Given the description of an element on the screen output the (x, y) to click on. 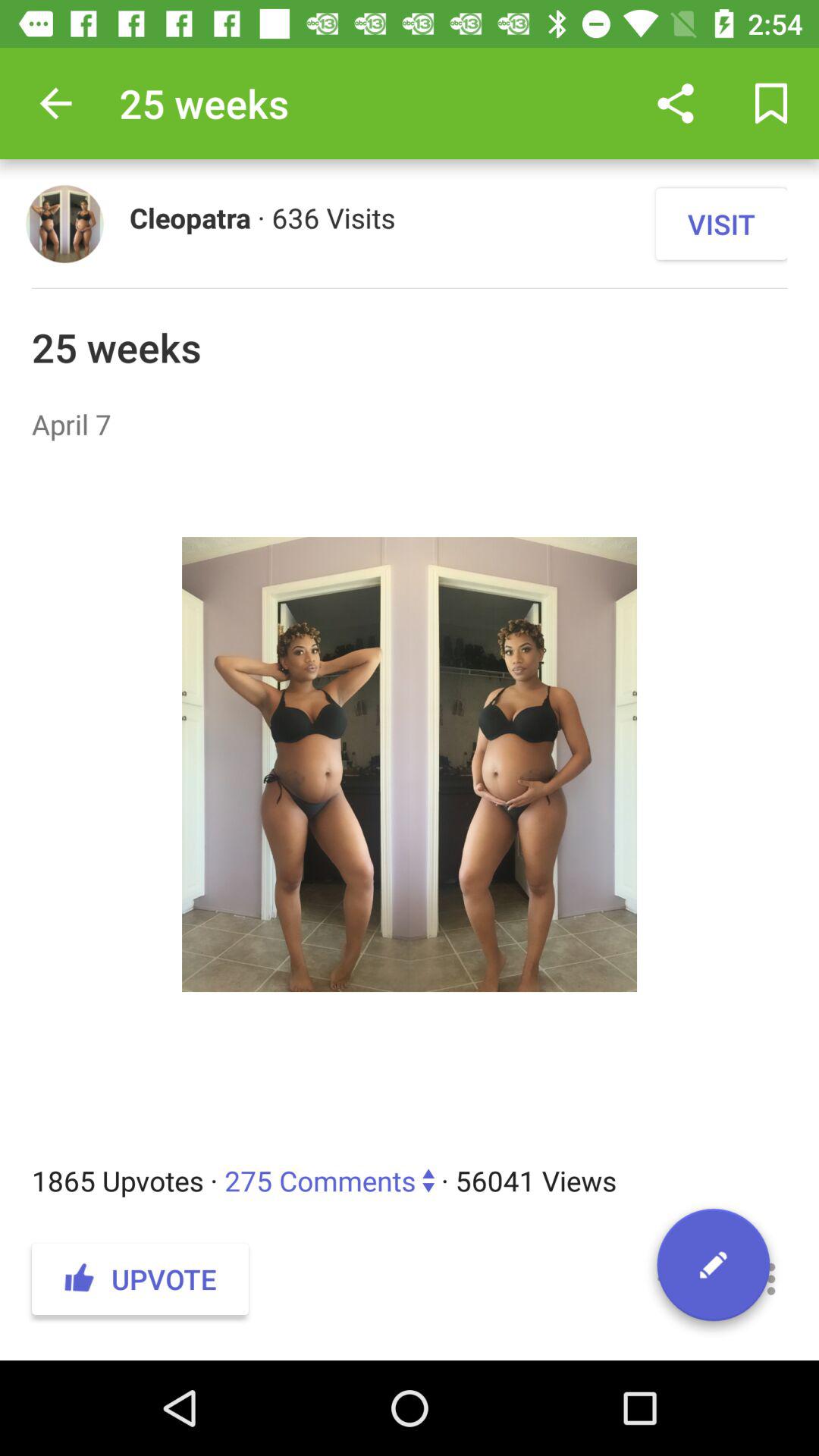
tap the icon above the 1865 upvotes 275 (409, 802)
